Given the description of an element on the screen output the (x, y) to click on. 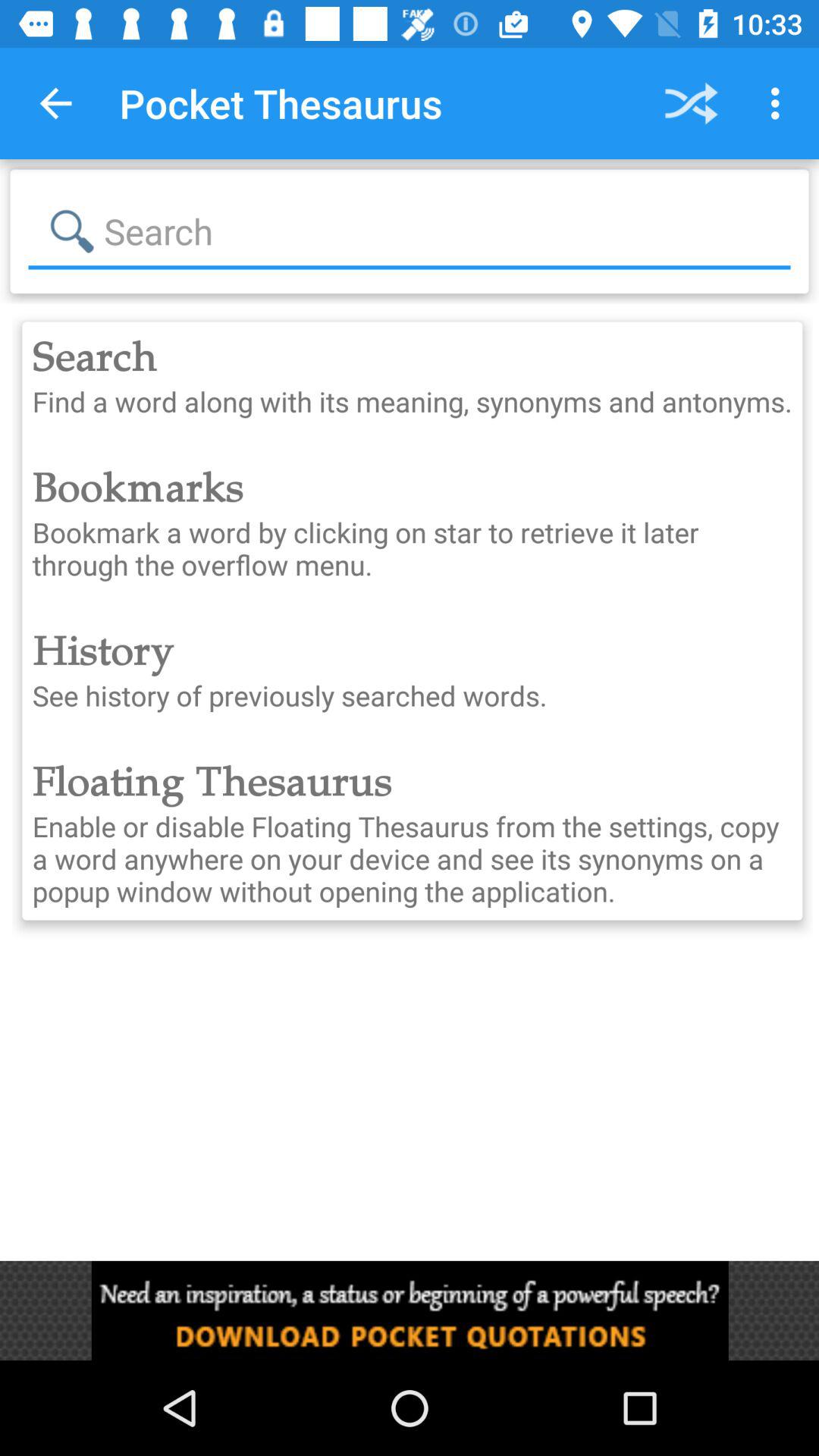
advertisement (409, 1310)
